Given the description of an element on the screen output the (x, y) to click on. 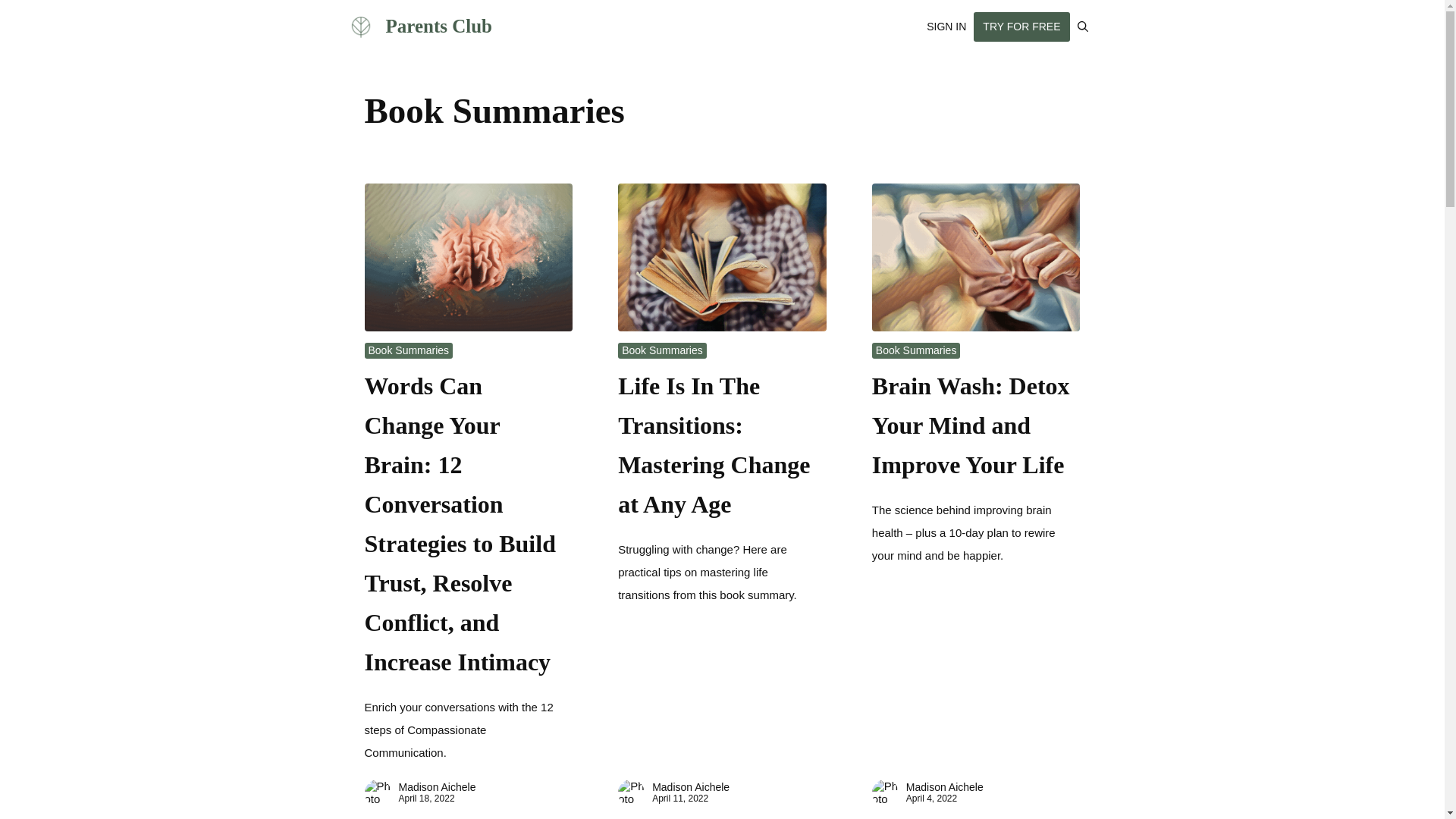
Brain Wash: Detox Your Mind and Improve Your Life (971, 425)
Book Summaries (408, 349)
TRY FOR FREE (1021, 26)
SIGN IN (946, 26)
Book Summaries (662, 349)
Parents Club (438, 25)
Book Summaries (916, 349)
Life Is In The Transitions: Mastering Change at Any Age (713, 444)
